Given the description of an element on the screen output the (x, y) to click on. 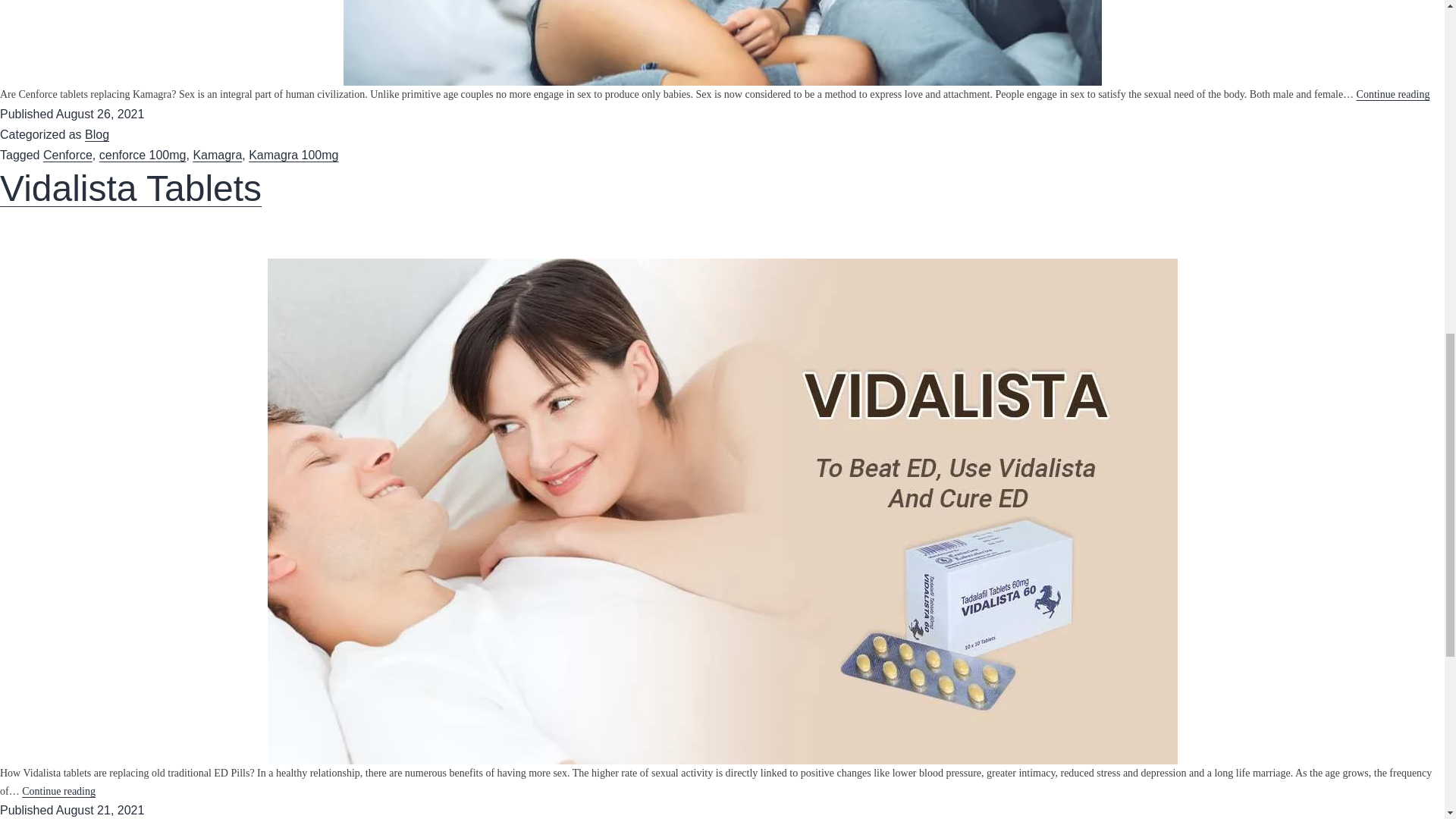
Cenforce (68, 154)
Vidalista Tablets (131, 188)
Blog (96, 133)
Continue reading (1392, 93)
cenforce 100mg (142, 154)
Continue reading (58, 790)
Kamagra 100mg (292, 154)
Kamagra (216, 154)
